Given the description of an element on the screen output the (x, y) to click on. 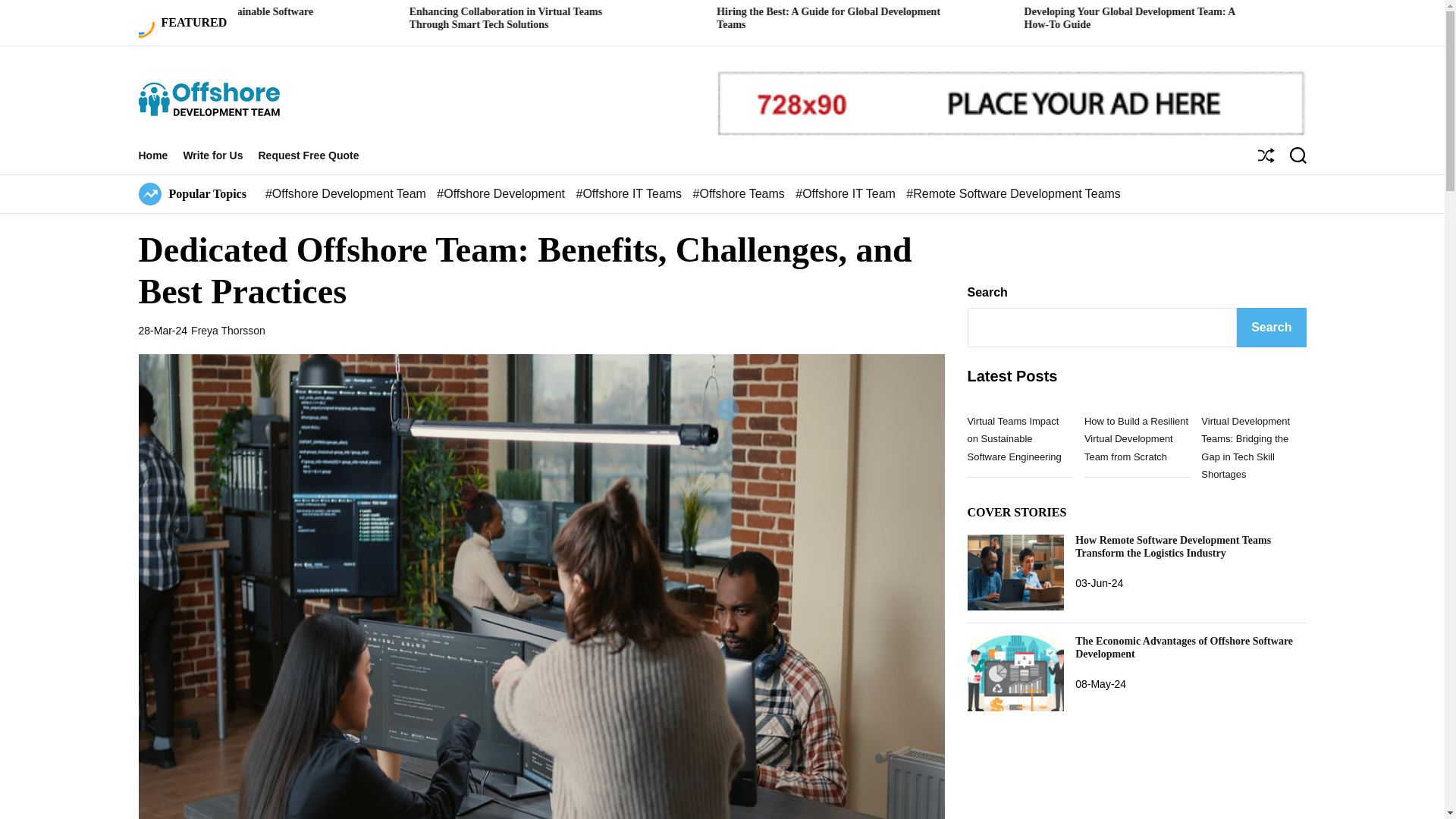
Developing Your Global Development Team: A How-To Guide (1331, 17)
Hiring the Best: A Guide for Global Development Teams (1029, 17)
Virtual Teams Impact on Sustainable Software Engineering (407, 17)
